Given the description of an element on the screen output the (x, y) to click on. 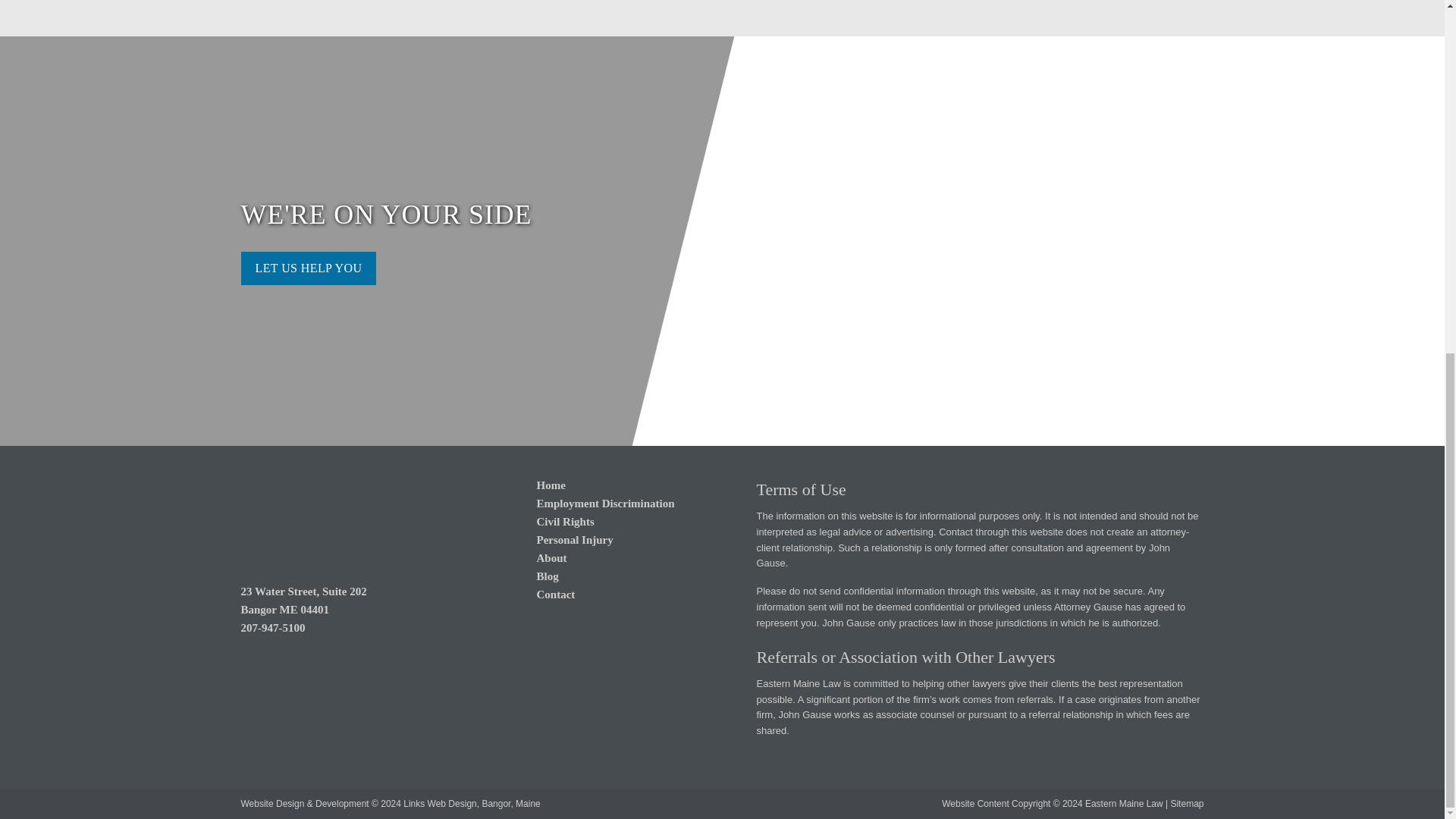
Links Web Design, Bangor, Maine (471, 803)
